Given the description of an element on the screen output the (x, y) to click on. 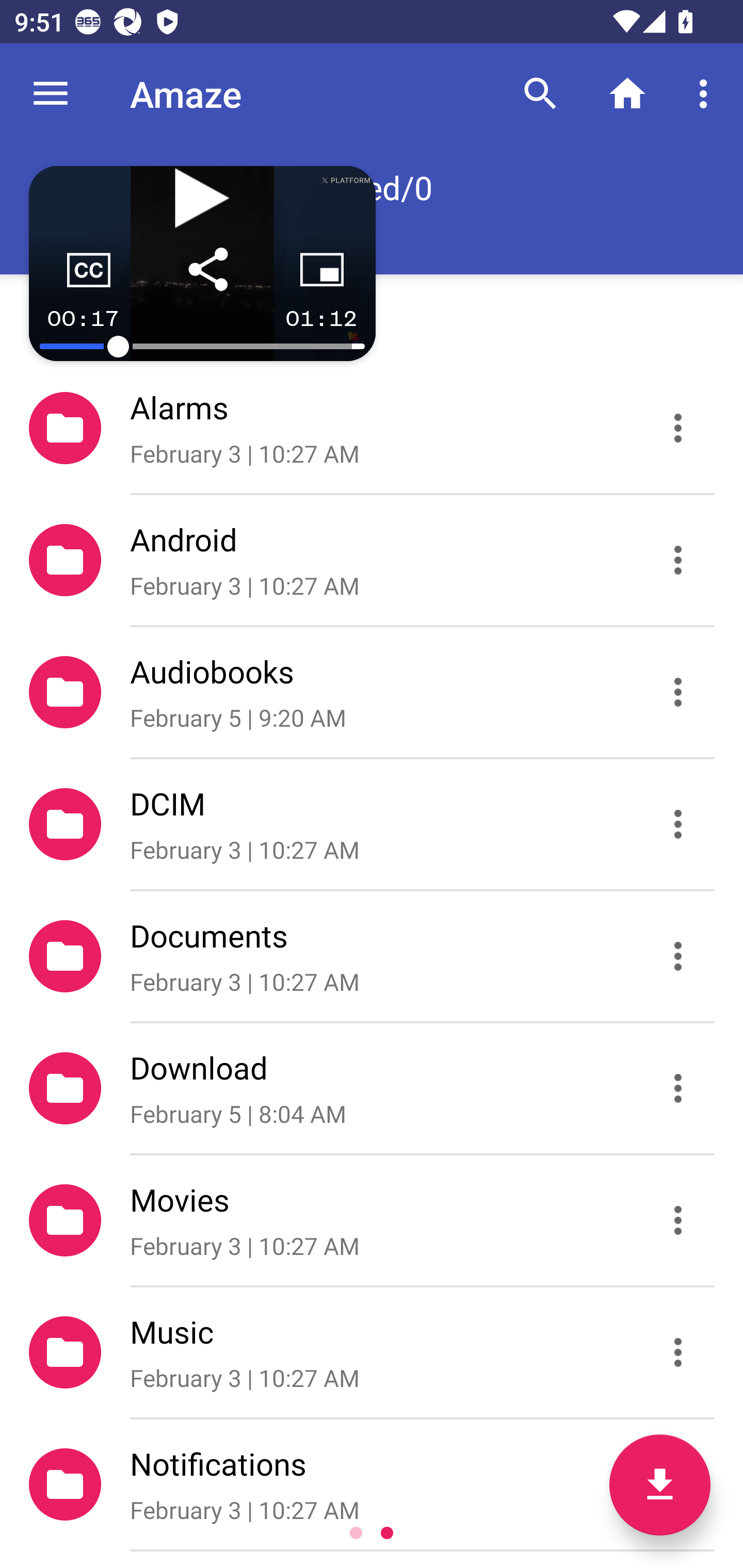
Navigate up (50, 93)
Search (540, 93)
Home (626, 93)
More options (706, 93)
Alarms February 3 | 10:27 AM (371, 427)
Android February 3 | 10:27 AM (371, 560)
Audiobooks February 5 | 9:20 AM (371, 692)
DCIM February 3 | 10:27 AM (371, 823)
Documents February 3 | 10:27 AM (371, 955)
Download February 5 | 8:04 AM (371, 1088)
Movies February 3 | 10:27 AM (371, 1220)
Music February 3 | 10:27 AM (371, 1352)
Notifications February 3 | 10:27 AM (371, 1484)
